Given the description of an element on the screen output the (x, y) to click on. 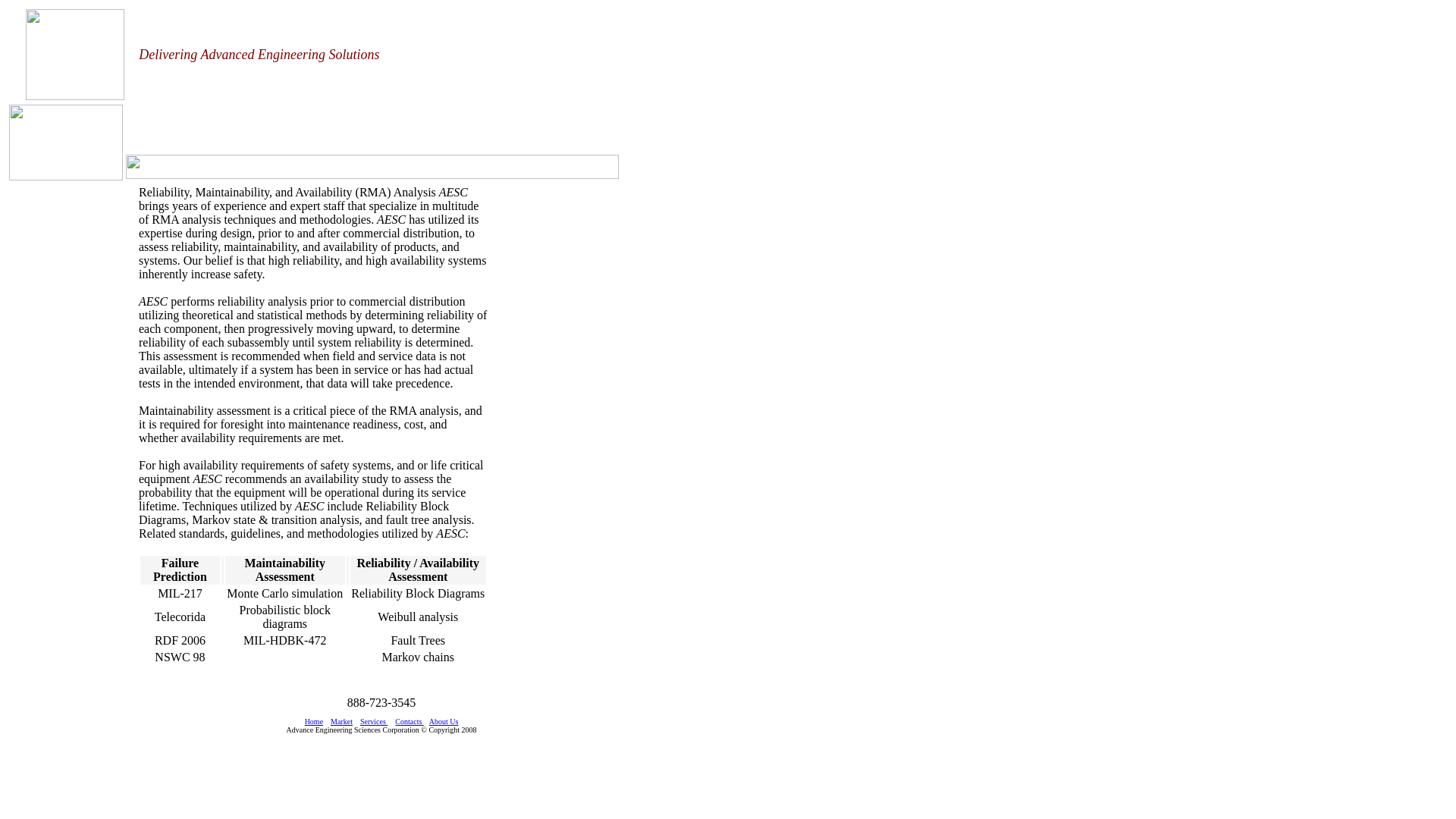
About Us Element type: text (443, 721)
Services Element type: text (373, 721)
Market Element type: text (341, 721)
Home Element type: text (313, 721)
Contacts  Element type: text (409, 721)
